Given the description of an element on the screen output the (x, y) to click on. 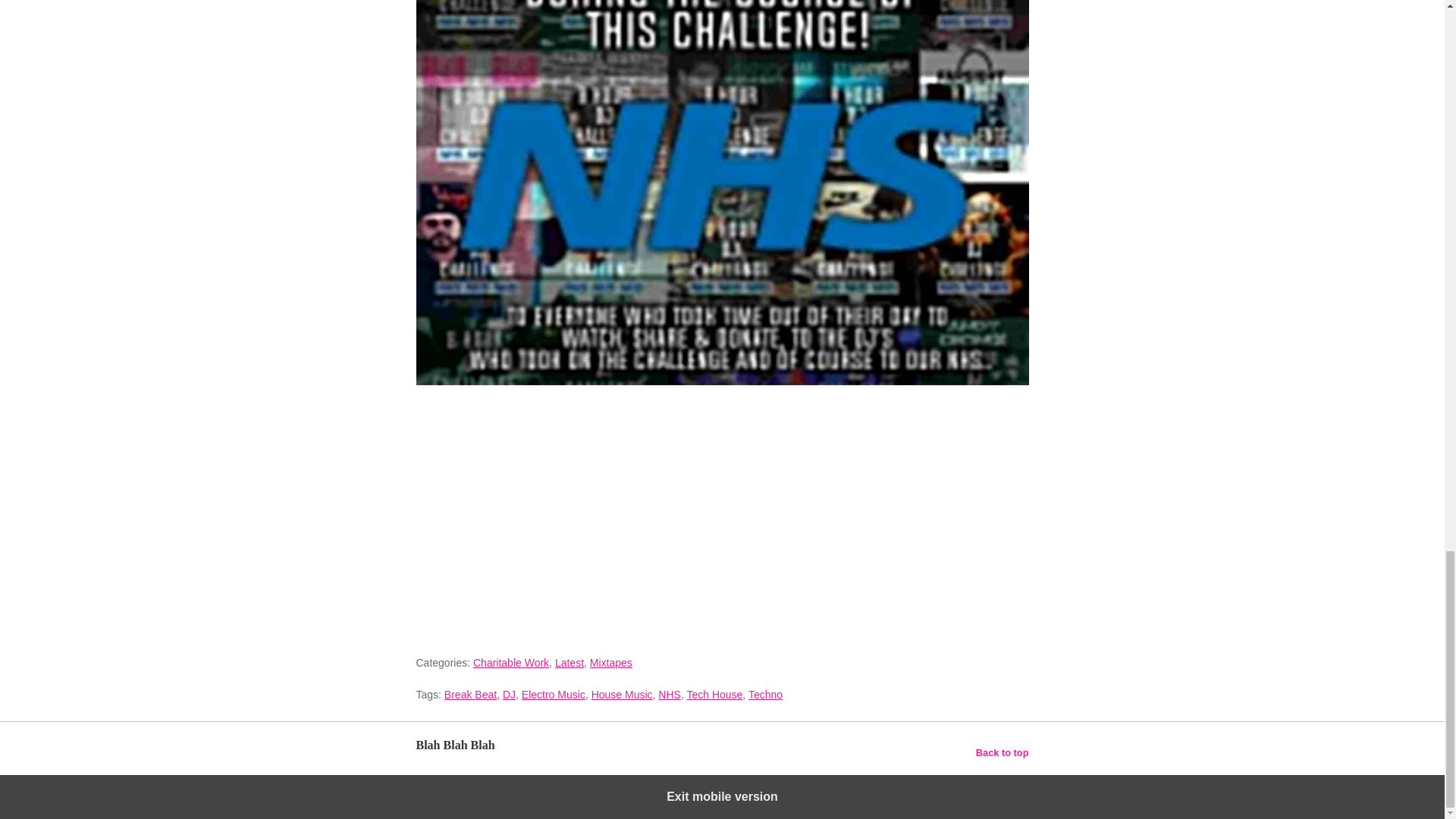
Mixtapes (610, 662)
Tech House (713, 694)
Break Beat (470, 694)
Back to top (1002, 752)
NHS (669, 694)
Latest (568, 662)
House Music (621, 694)
Electro Music (553, 694)
Techno (765, 694)
Charitable Work (510, 662)
